Given the description of an element on the screen output the (x, y) to click on. 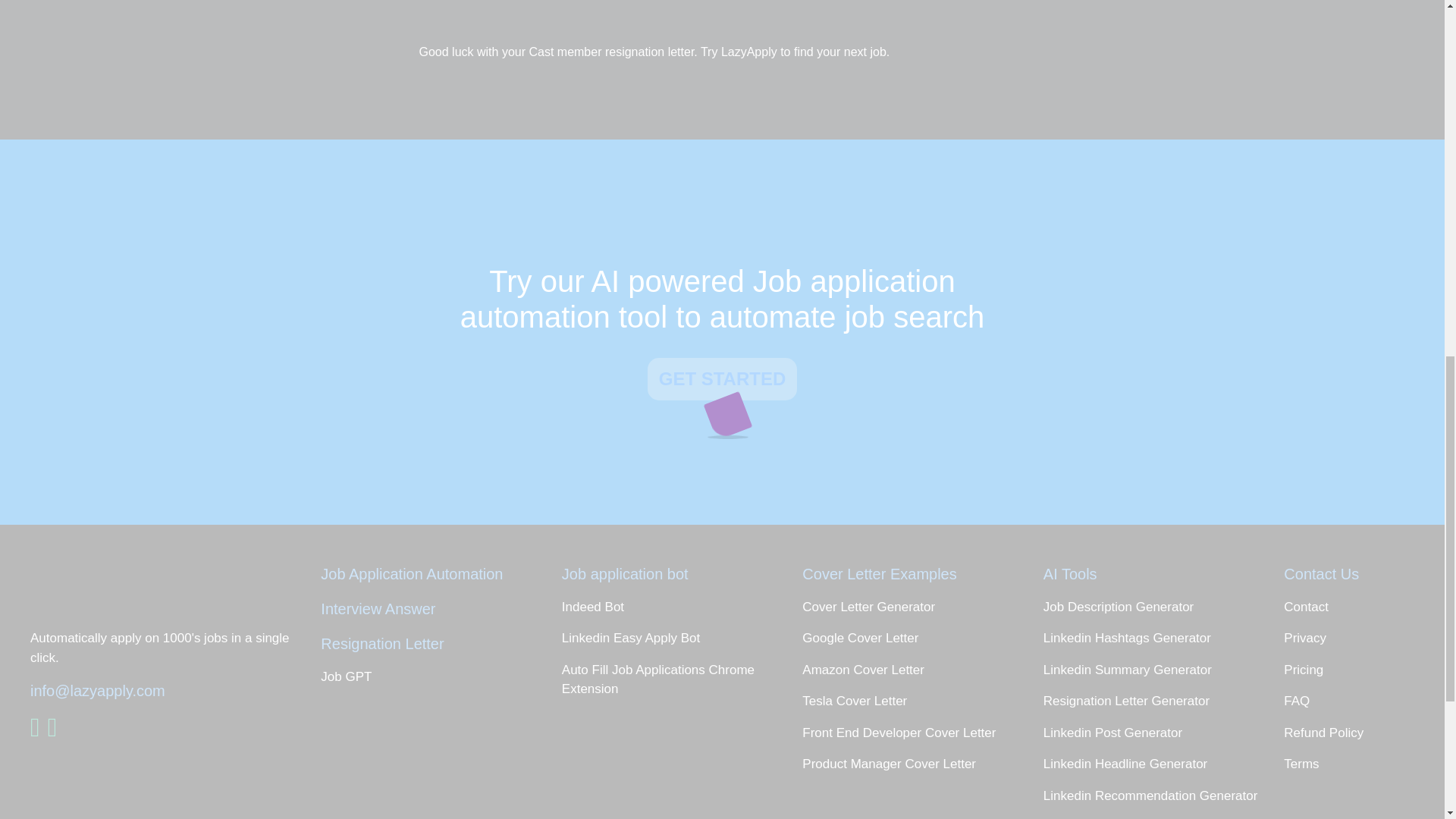
GET STARTED (722, 378)
Linkedin Recommendation Generator (1159, 795)
Job Description Generator (1159, 607)
Linkedin Headline Generator (1159, 763)
Front End Developer Cover Letter (911, 732)
Contact (1360, 607)
Job Application Automation (437, 573)
Cover Letter Examples (911, 573)
Google Cover Letter (911, 638)
Resignation Letter Generator (1159, 701)
Indeed Bot (671, 607)
Pricing (1360, 670)
Privacy (1360, 638)
Linkedin Summary Generator (1159, 670)
